Given the description of an element on the screen output the (x, y) to click on. 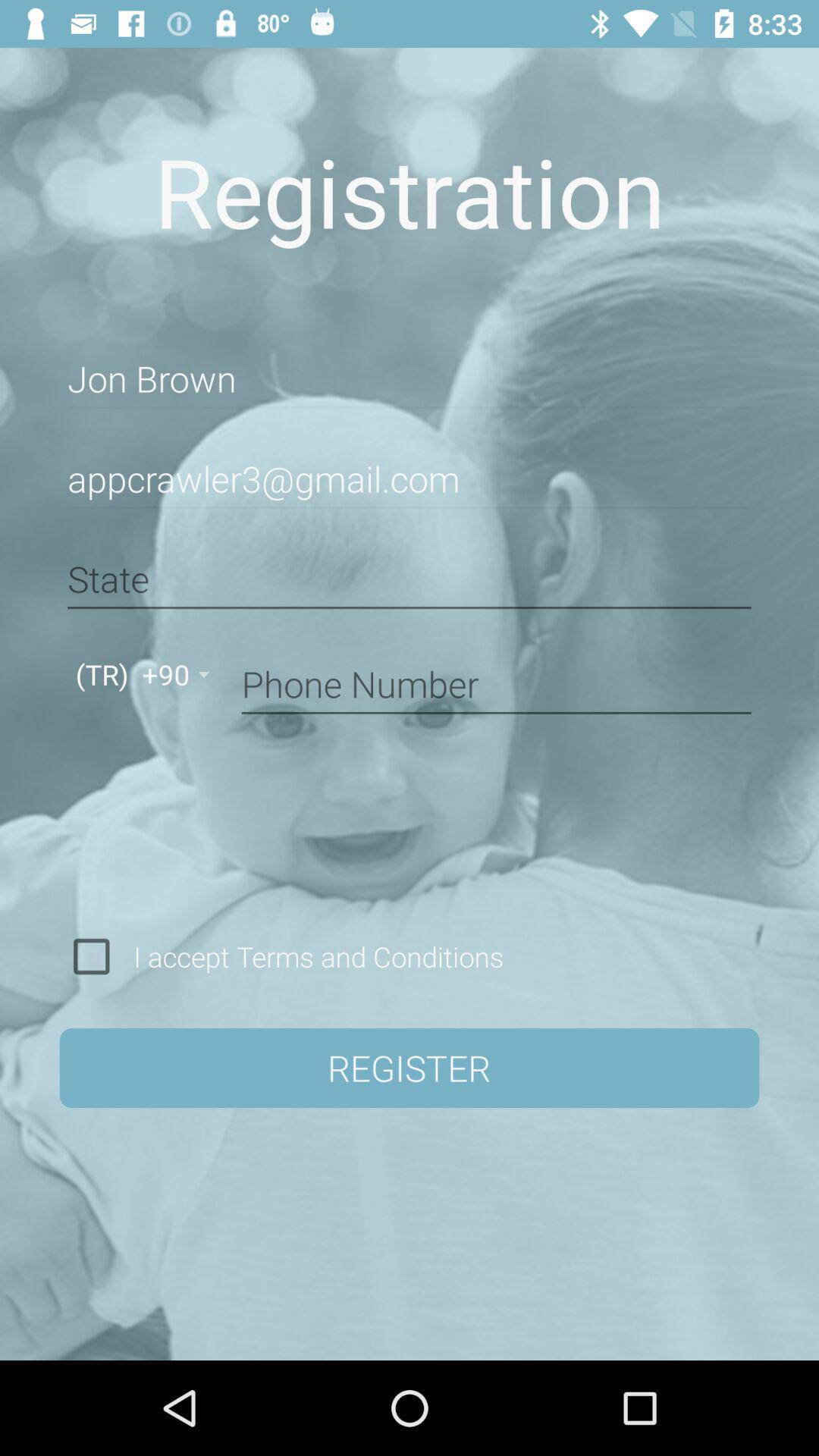
your registration phone number (496, 681)
